Given the description of an element on the screen output the (x, y) to click on. 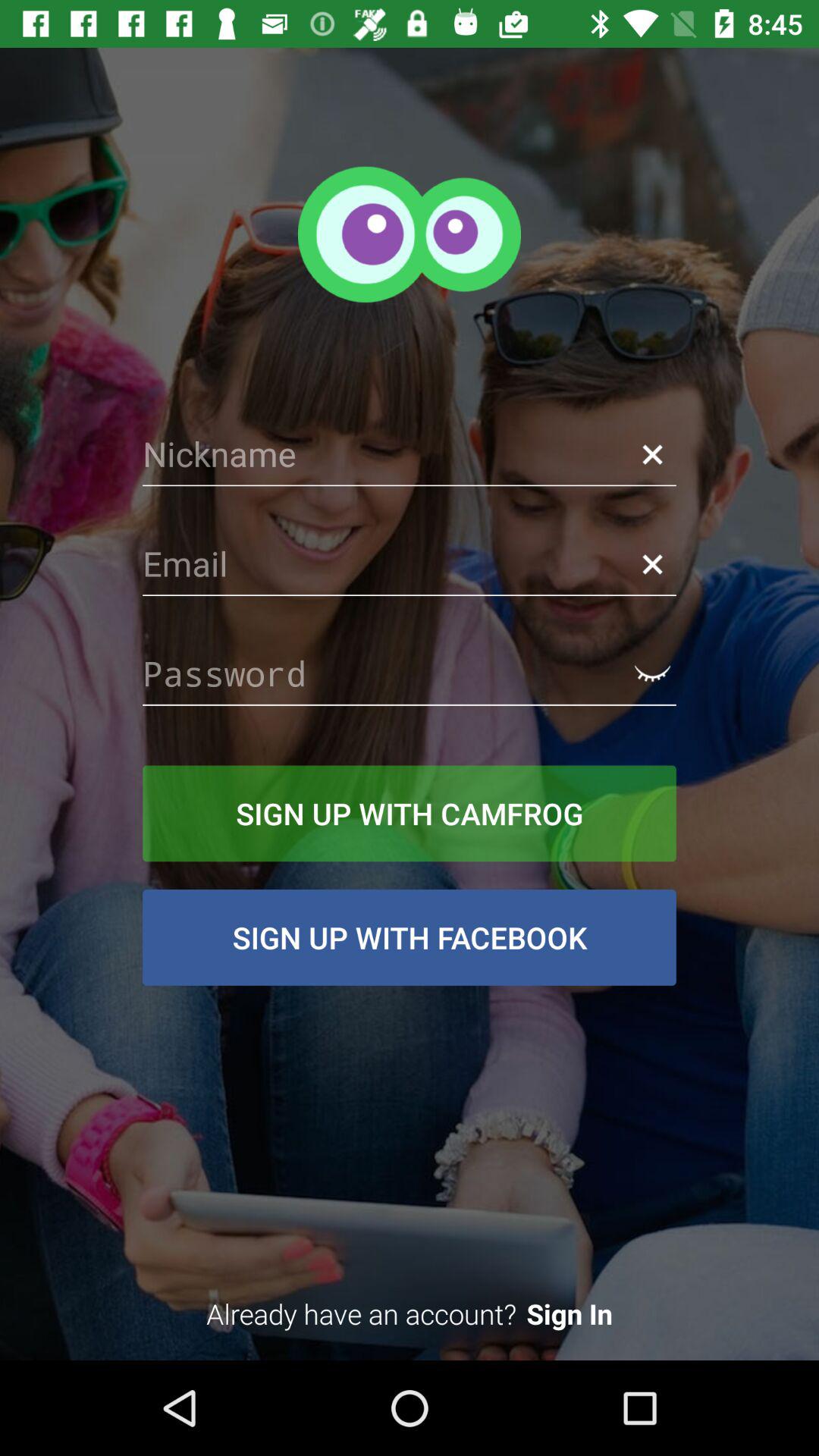
toggle show/hide password (652, 673)
